Given the description of an element on the screen output the (x, y) to click on. 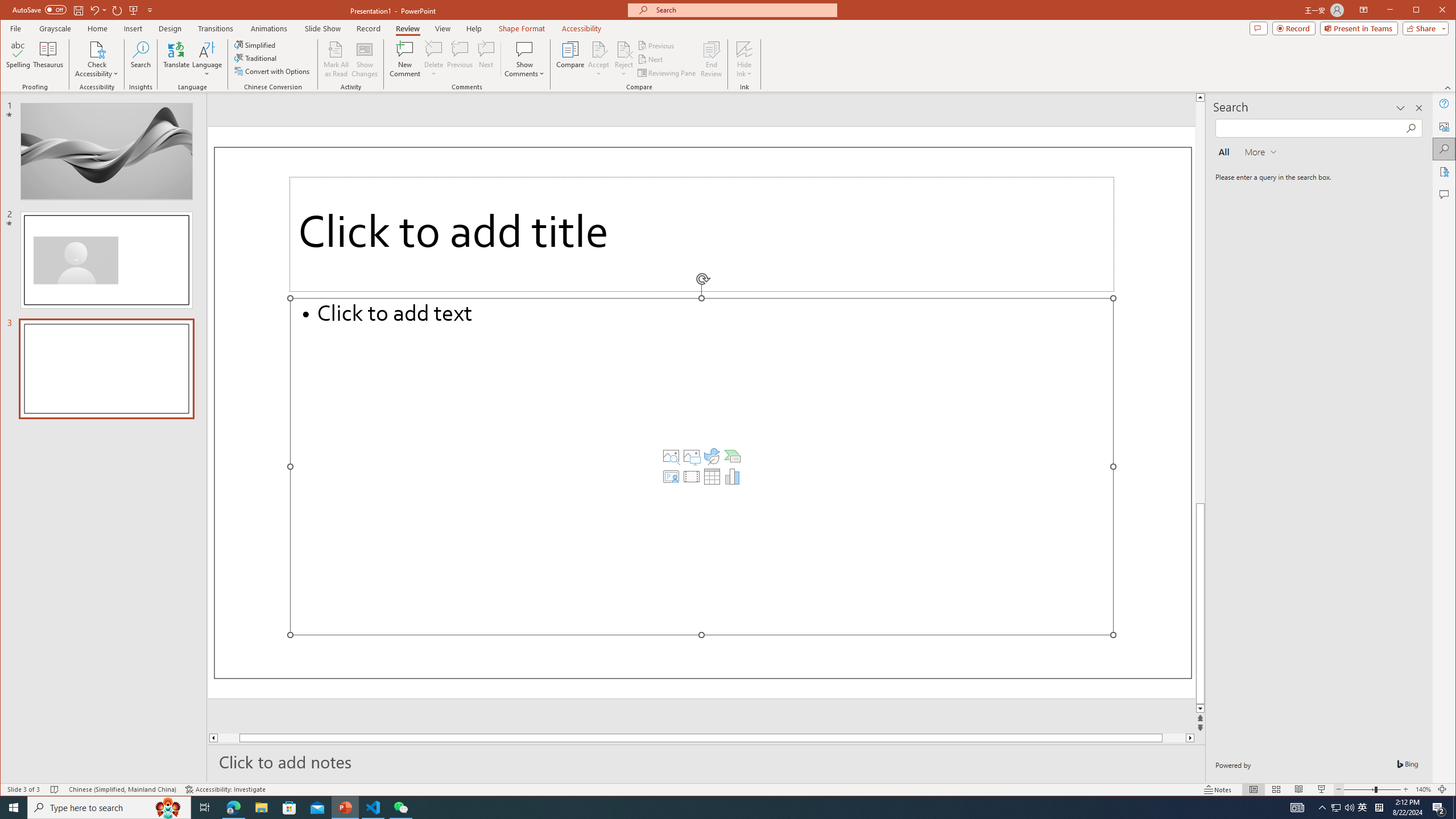
File Explorer (261, 807)
Class: MsoCommandBar (728, 789)
Microsoft search (742, 10)
Show Changes (365, 59)
Reviewing Pane (667, 72)
Type here to search (108, 807)
Accept Change (598, 48)
Hide Ink (744, 59)
